Given the description of an element on the screen output the (x, y) to click on. 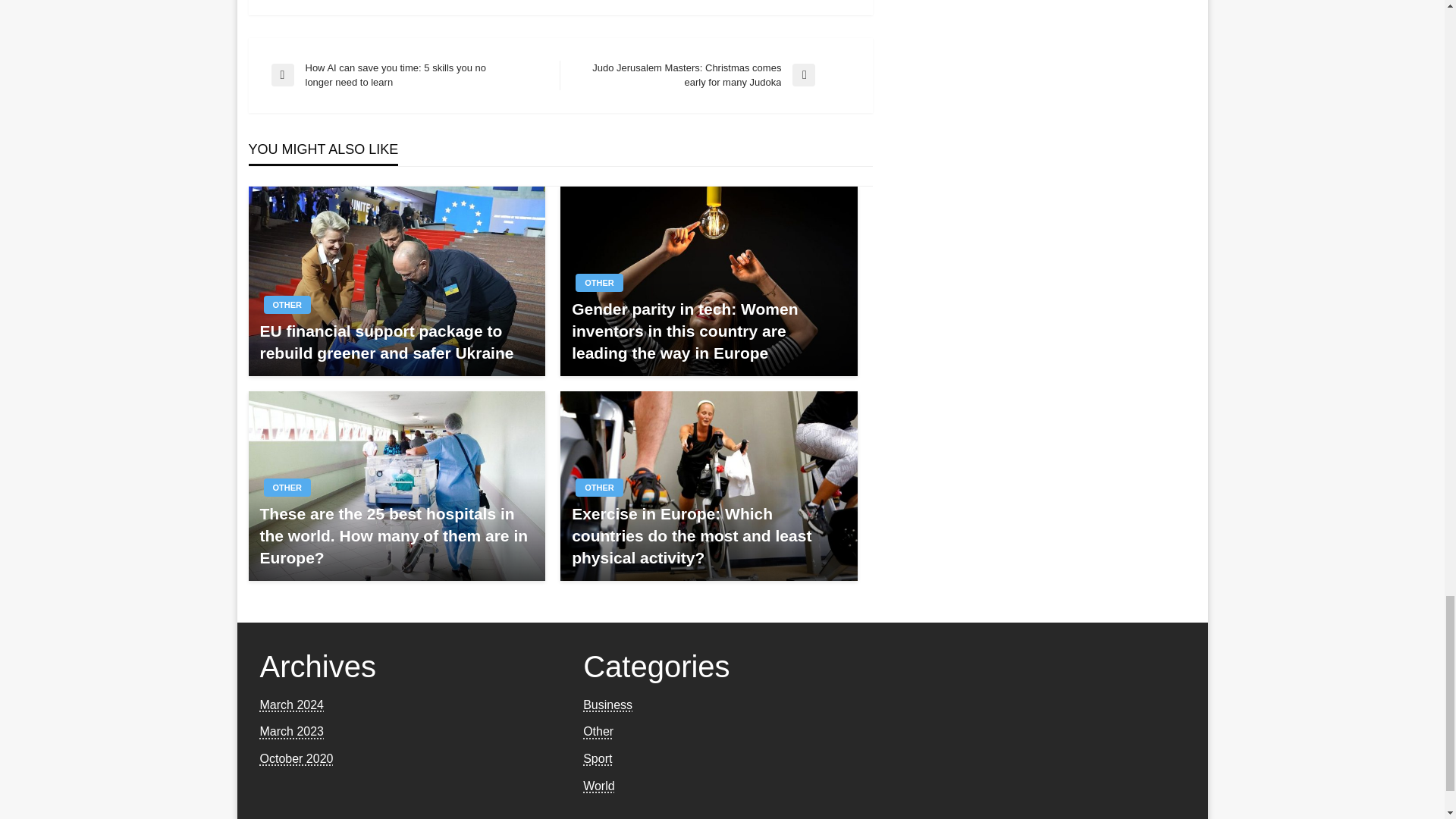
OTHER (287, 487)
OTHER (599, 282)
OTHER (287, 304)
